Given the description of an element on the screen output the (x, y) to click on. 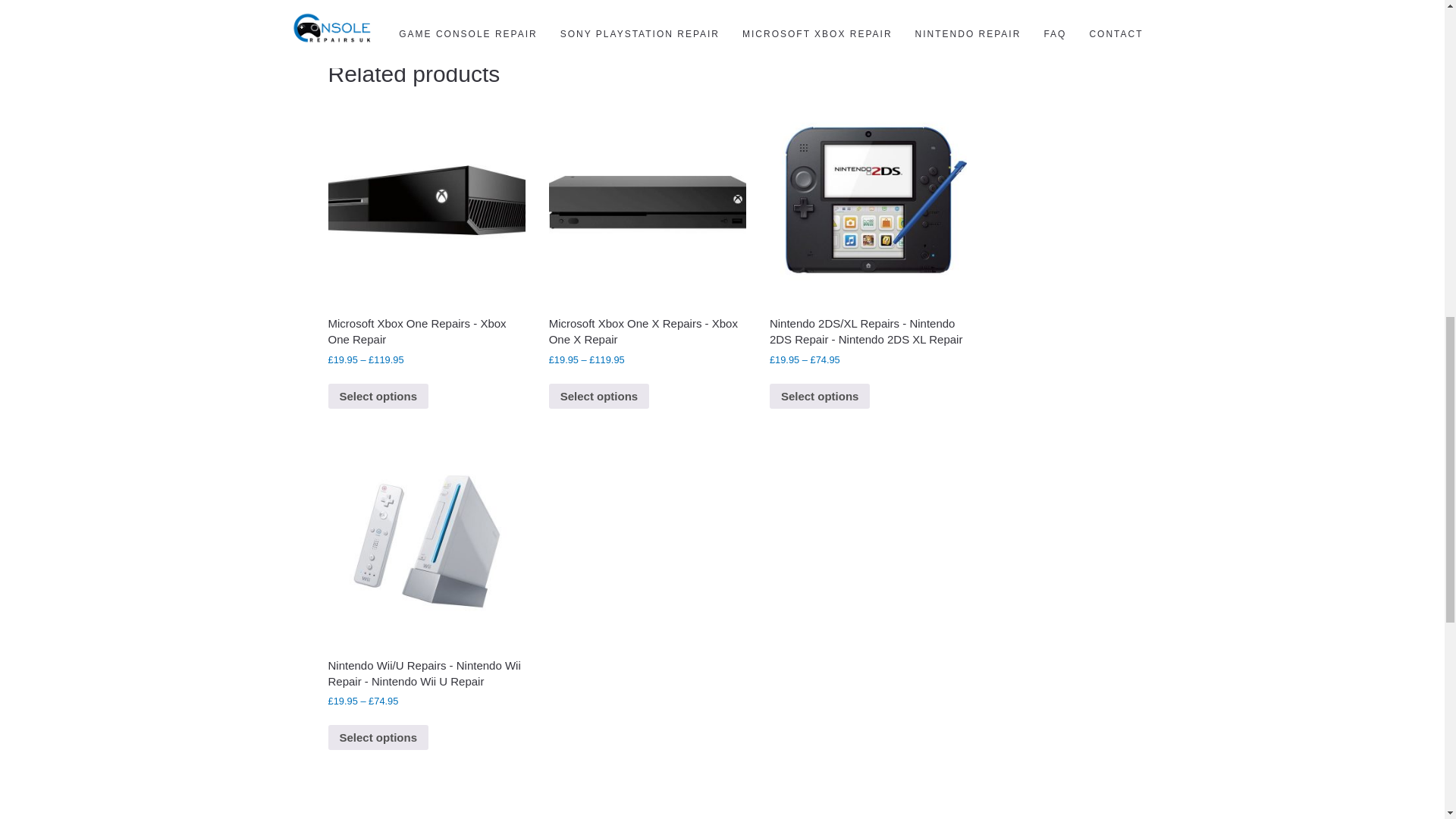
Select options (820, 396)
Microsoft Xbox One X Repairs - Xbox One X Repair (646, 331)
Microsoft Xbox One Repairs - Xbox One Repair (425, 331)
Select options (598, 396)
Select options (377, 396)
